Given the description of an element on the screen output the (x, y) to click on. 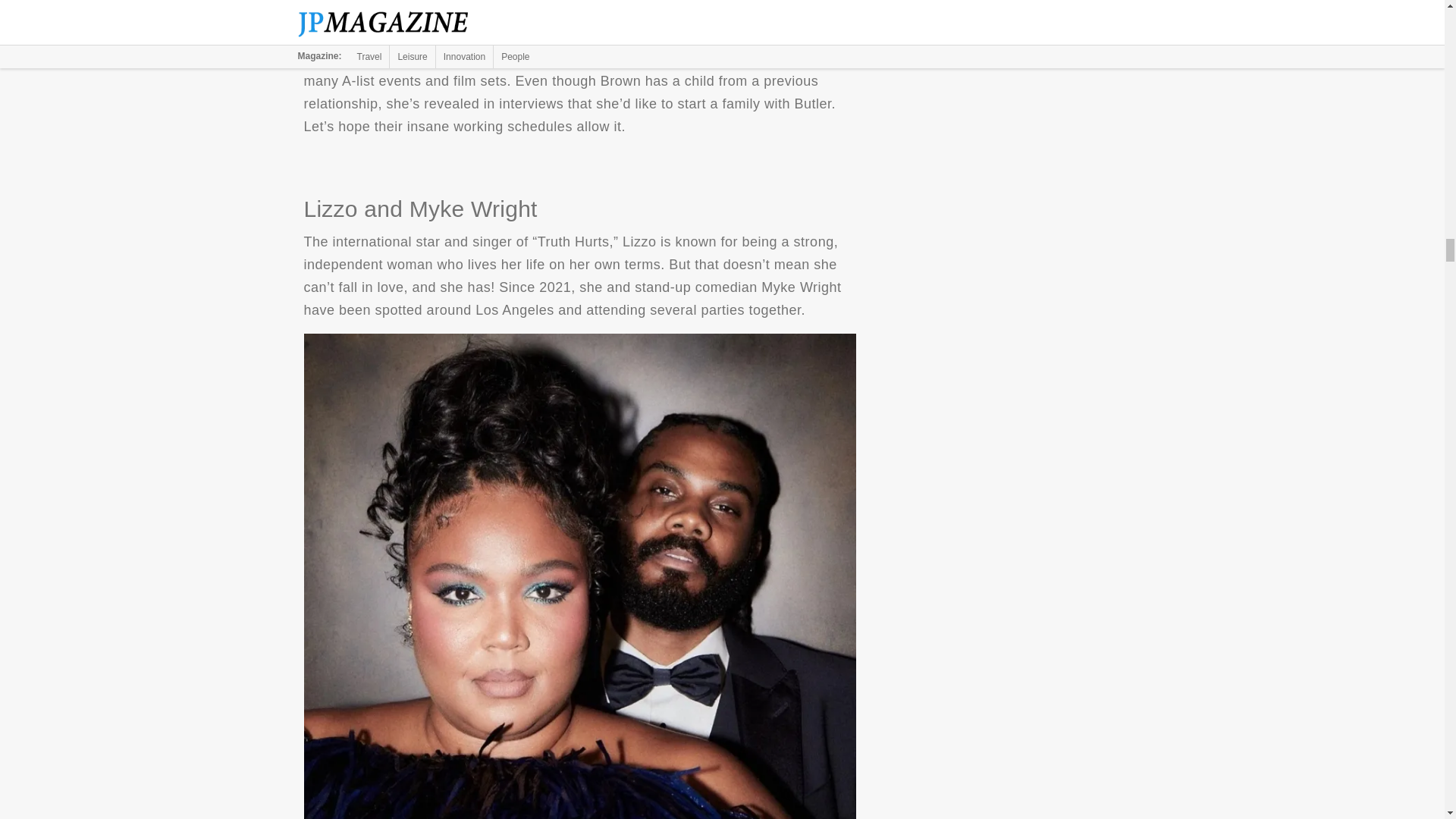
Gerard Butler and Morgan Brown (579, 10)
